Given the description of an element on the screen output the (x, y) to click on. 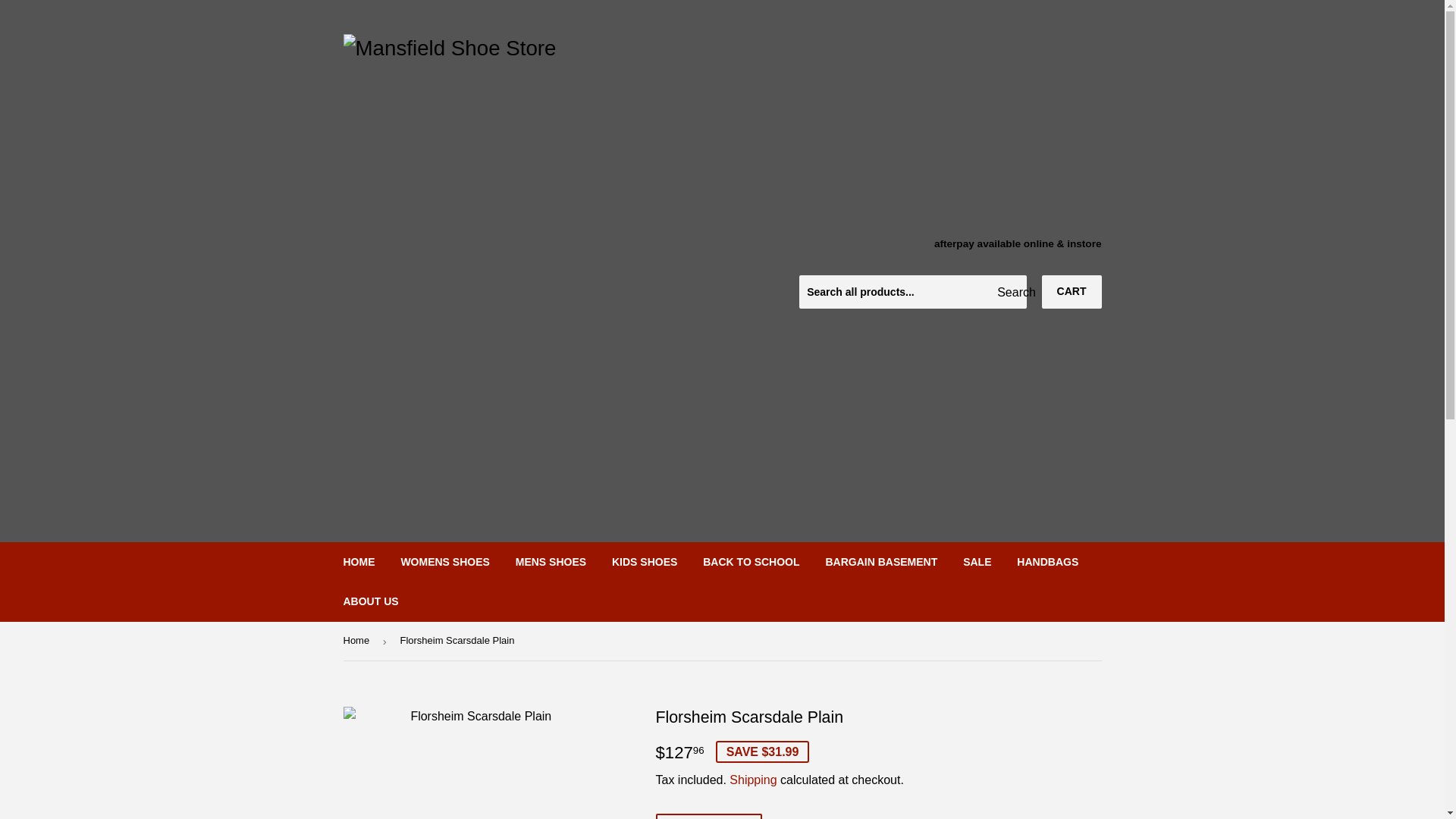
ADD TO CART (708, 816)
KIDS SHOES (643, 561)
SALE (977, 561)
HANDBAGS (1047, 561)
MENS SHOES (549, 561)
BACK TO SCHOOL (750, 561)
WOMENS SHOES (444, 561)
Shipping (752, 779)
CART (1072, 291)
Search (1009, 292)
